Given the description of an element on the screen output the (x, y) to click on. 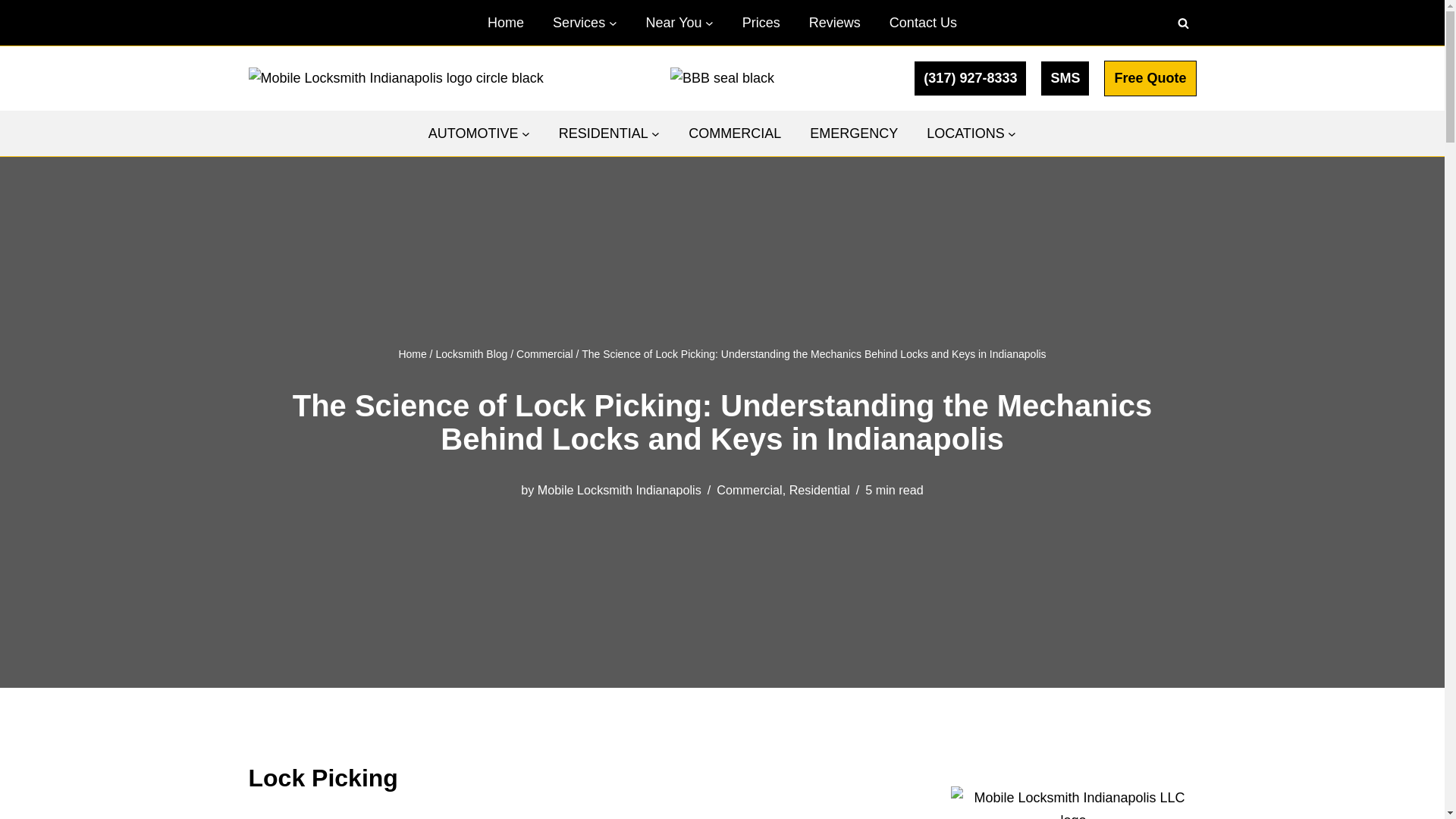
Homepage of Mobile Locksmith Indianapolis website (505, 23)
Near You (673, 23)
Skip to content (11, 31)
Prices (761, 23)
Reviews (834, 23)
Posts by Mobile Locksmith Indianapolis (619, 489)
Services (579, 23)
Home (505, 23)
Contact Us (922, 23)
